Given the description of an element on the screen output the (x, y) to click on. 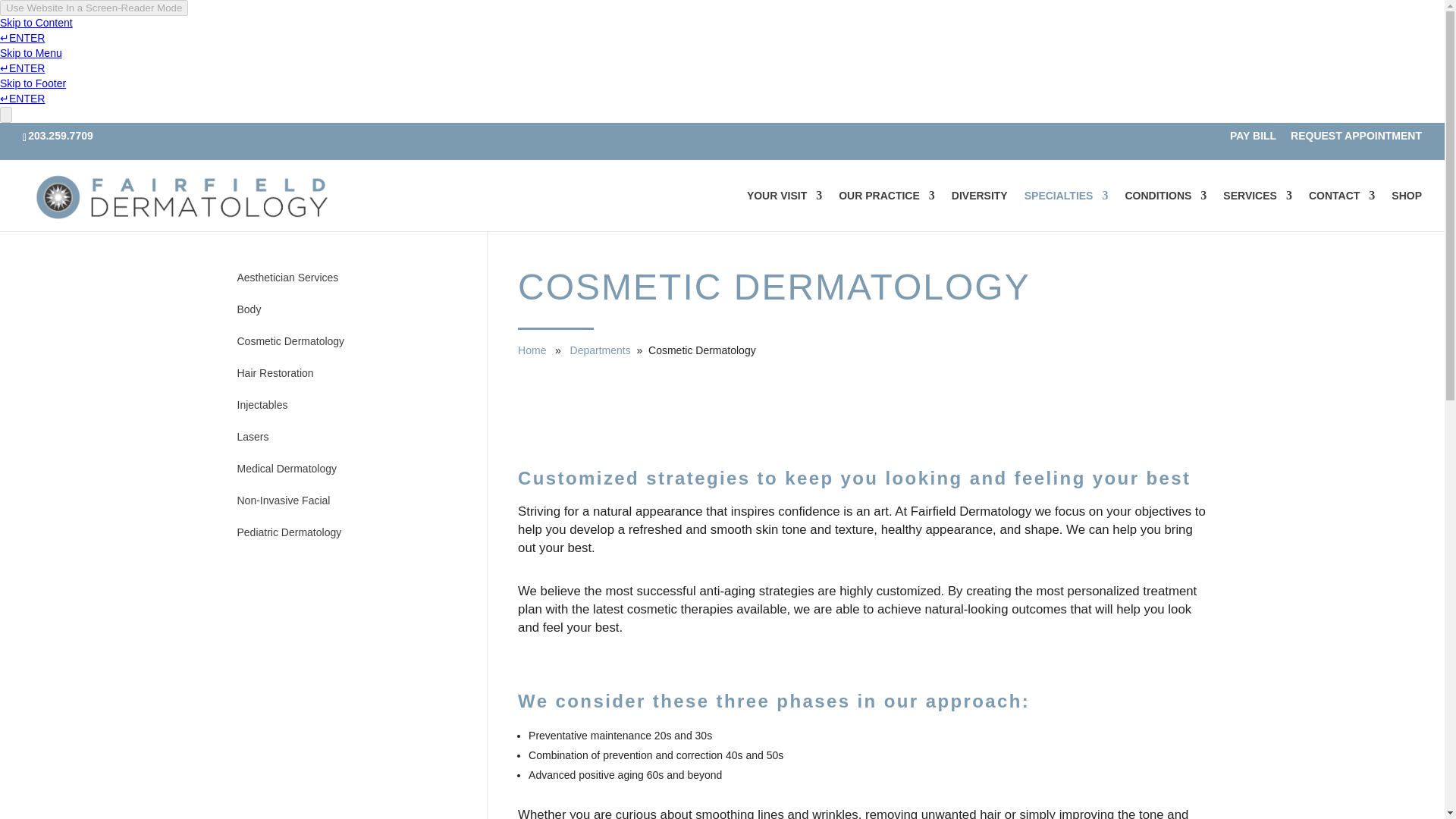
CONDITIONS (1165, 210)
REQUEST APPOINTMENT (1356, 139)
PAY BILL (1253, 139)
YOUR VISIT (784, 210)
DIVERSITY (979, 210)
SPECIALTIES (1066, 210)
OUR PRACTICE (886, 210)
203.259.7709 (63, 135)
